Given the description of an element on the screen output the (x, y) to click on. 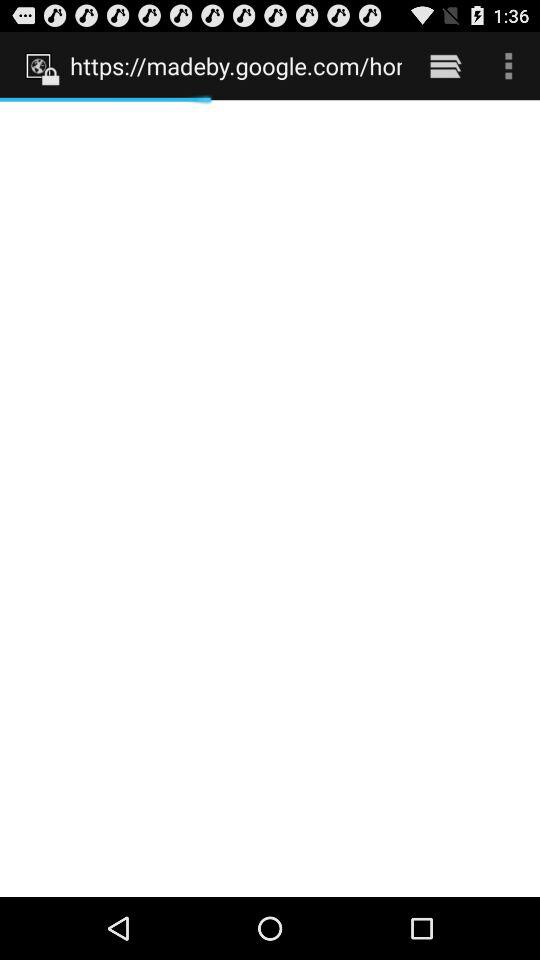
flip until https madeby google icon (235, 65)
